Given the description of an element on the screen output the (x, y) to click on. 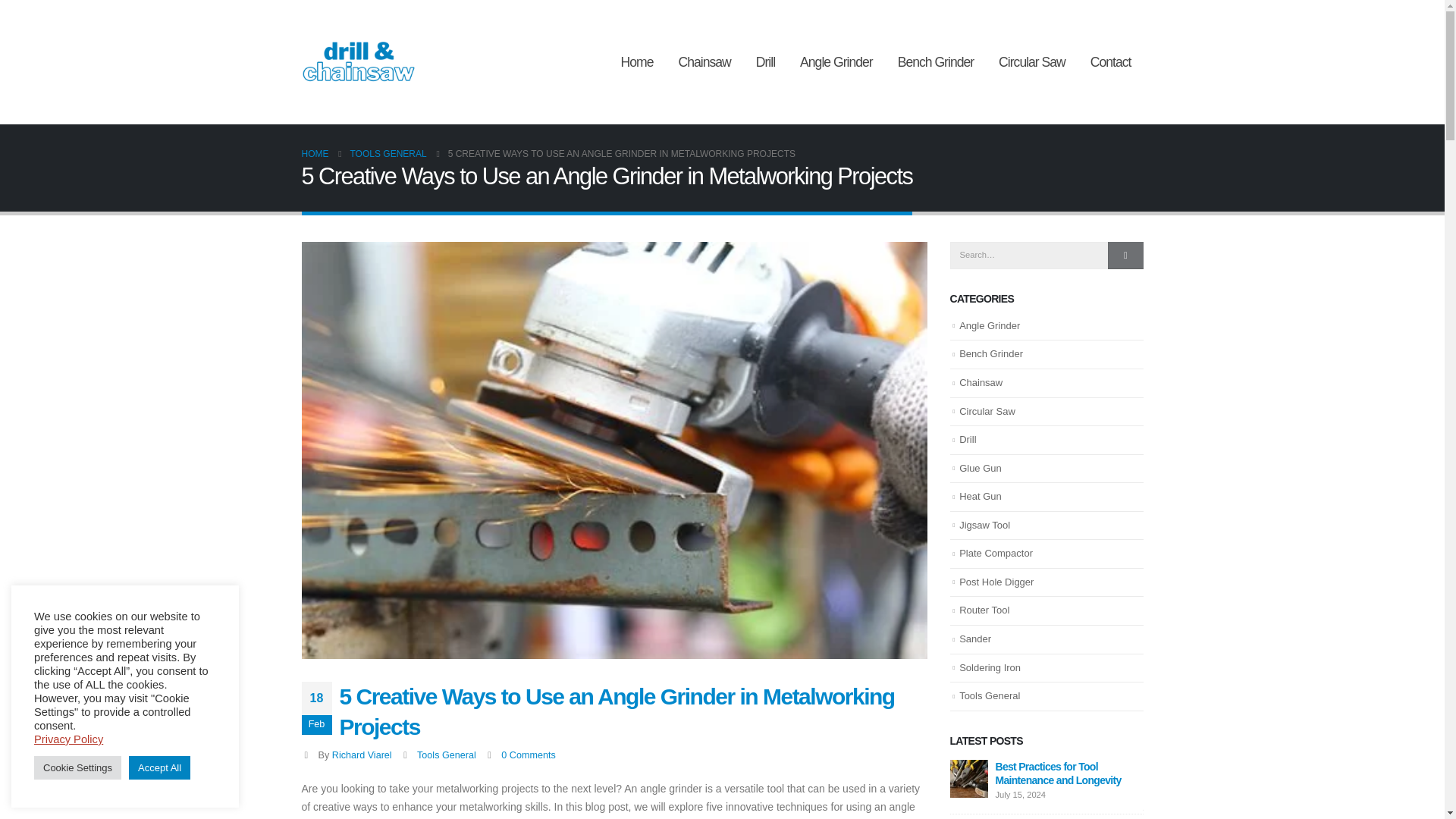
HOME (315, 153)
Angle Grinder (836, 61)
Circular Saw (1032, 61)
Posts by Richard Viarel (361, 755)
Bench Grinder (935, 61)
0 Comments (527, 755)
Richard Viarel (361, 755)
Go to Home Page (315, 153)
TOOLS GENERAL (388, 153)
Tools General (446, 755)
